Given the description of an element on the screen output the (x, y) to click on. 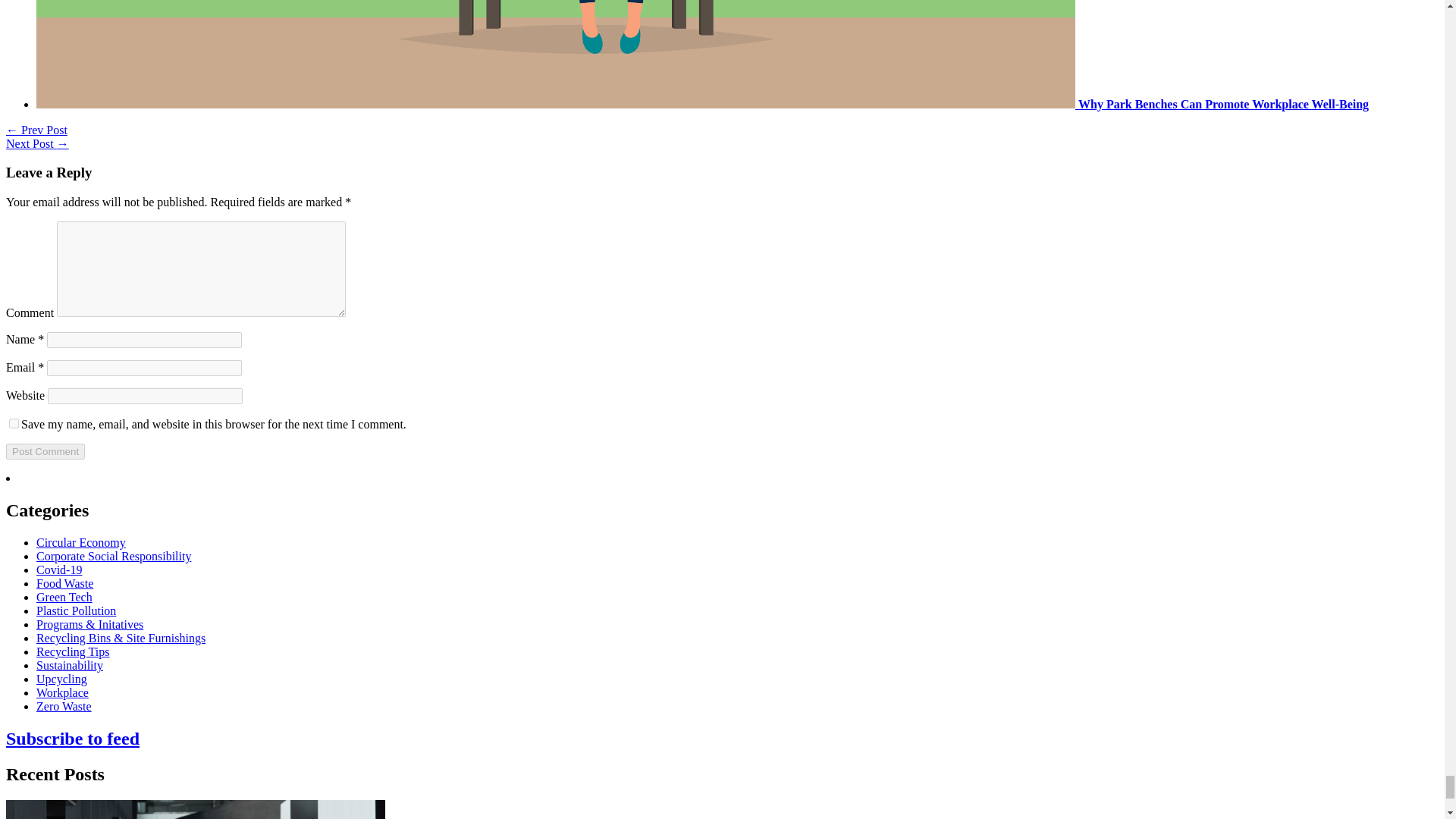
Post Comment (44, 451)
yes (13, 423)
